Given the description of an element on the screen output the (x, y) to click on. 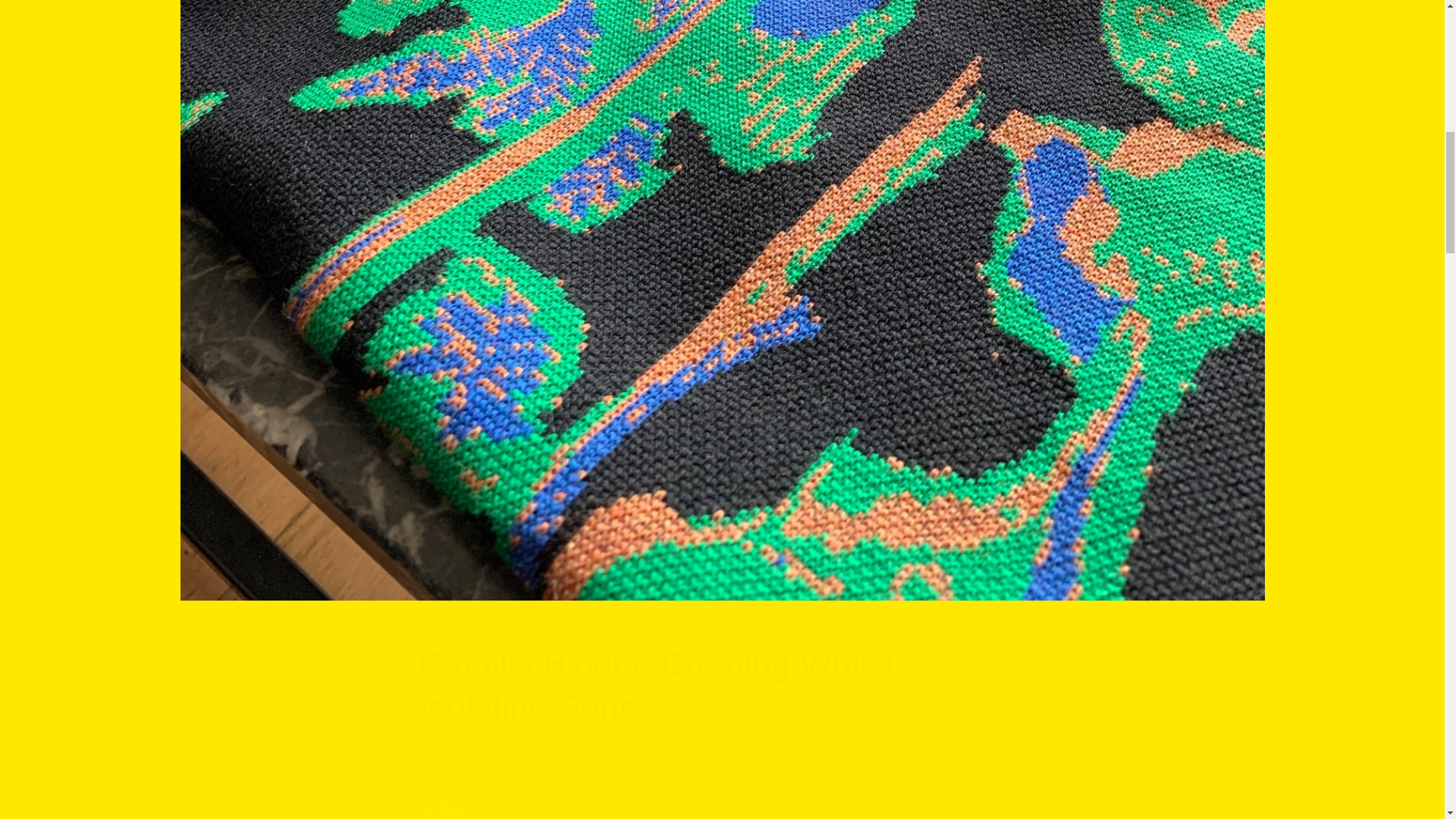
Share (722, 804)
